Given the description of an element on the screen output the (x, y) to click on. 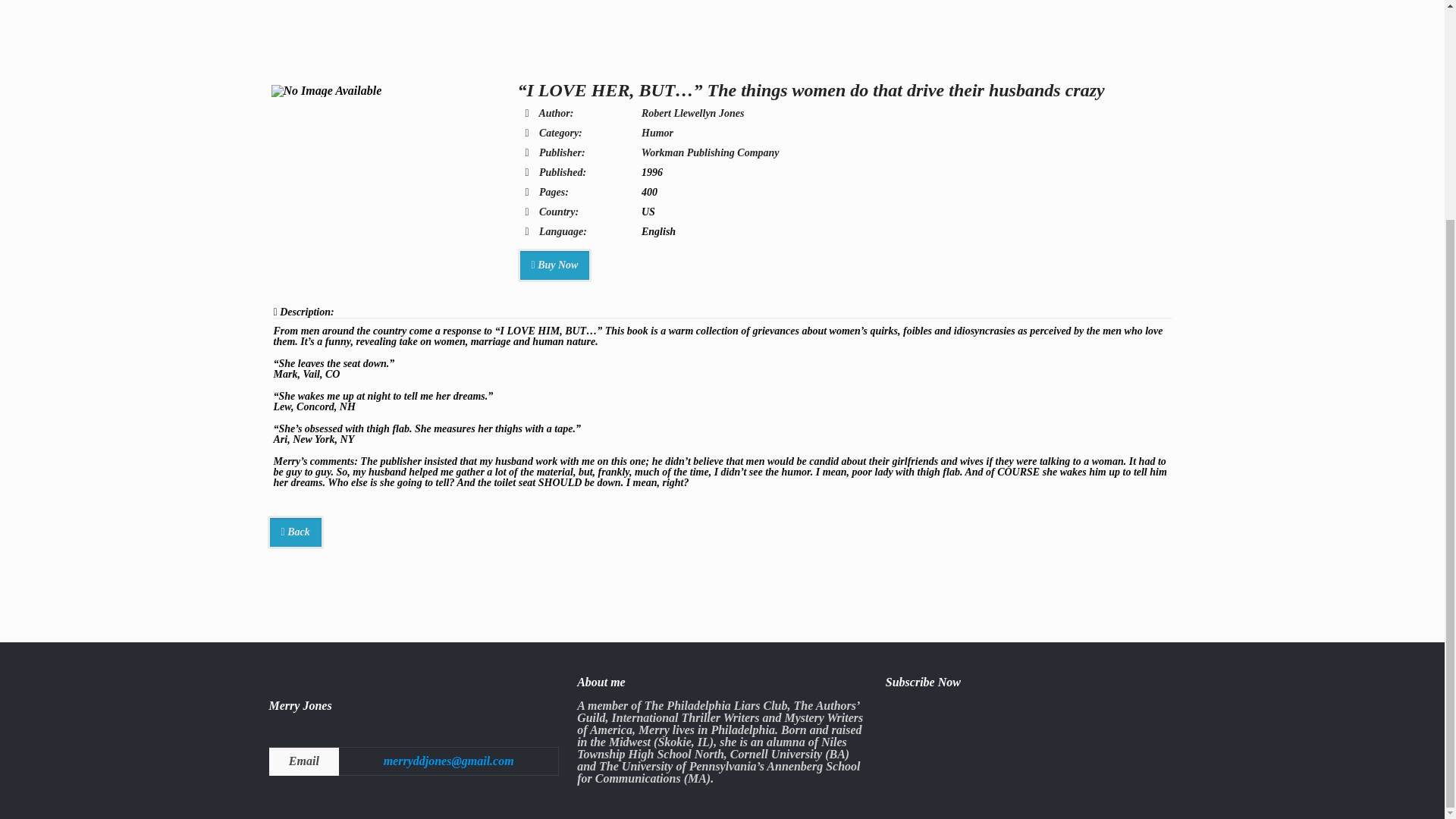
Workman Publishing Company (710, 152)
 Back (294, 531)
Humor (657, 132)
 Buy Now (553, 264)
Robert Llewellyn Jones (693, 112)
